Given the description of an element on the screen output the (x, y) to click on. 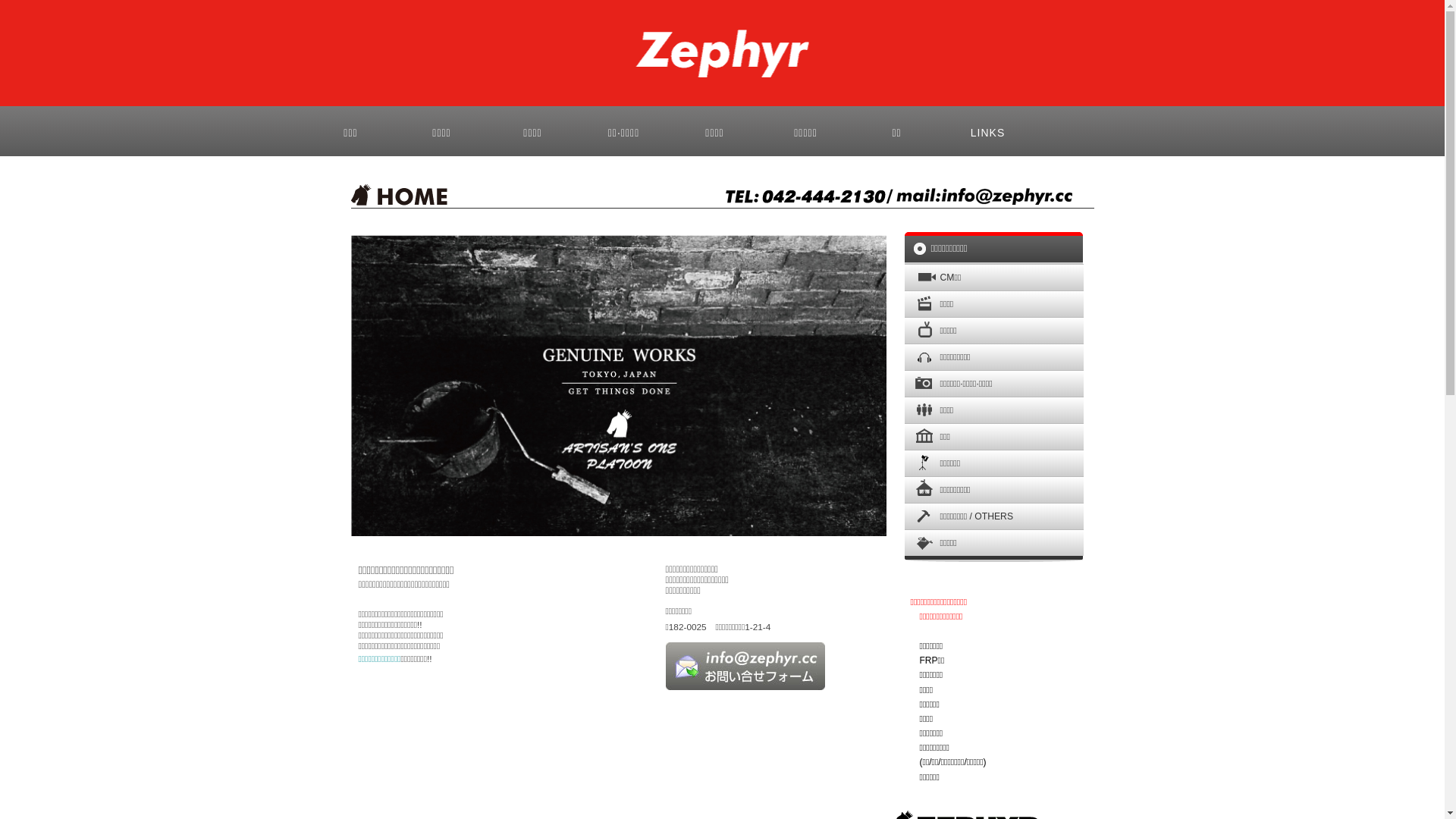
LINKS Element type: text (986, 131)
